Given the description of an element on the screen output the (x, y) to click on. 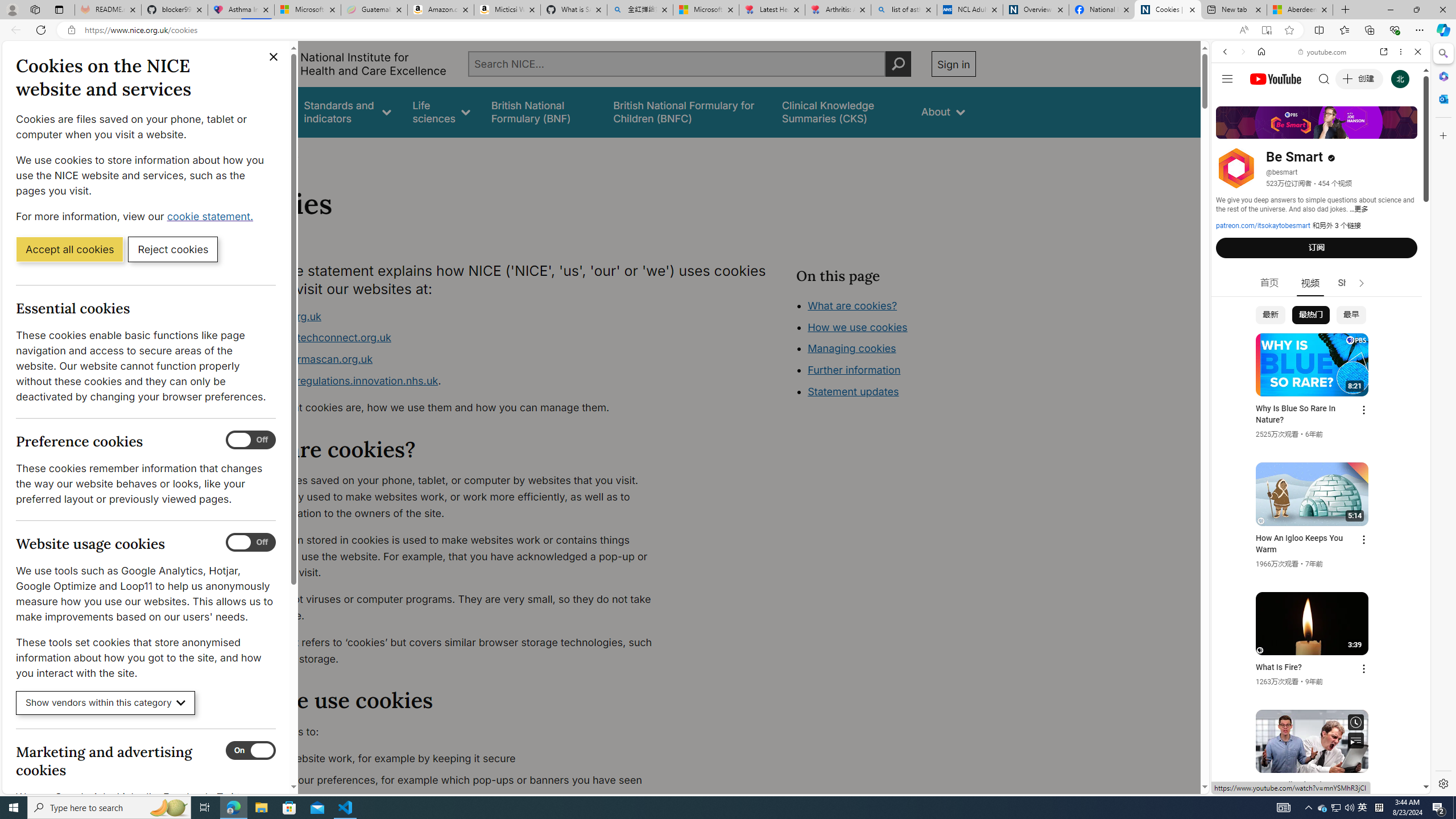
www.digitalregulations.innovation.nhs.uk (338, 380)
www.healthtechconnect.org.uk (452, 338)
Reject cookies (173, 248)
